Given the description of an element on the screen output the (x, y) to click on. 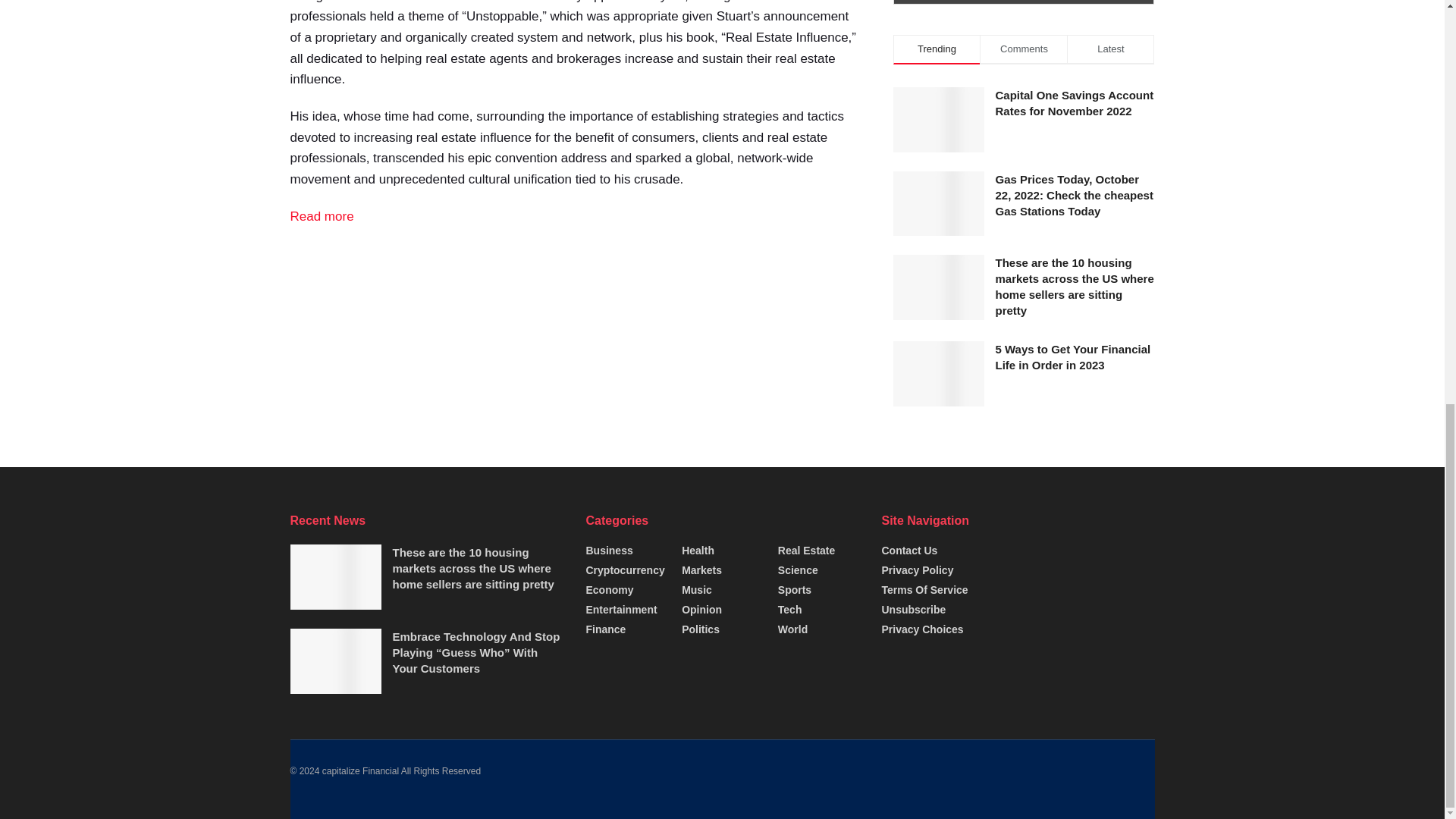
Read more (321, 216)
Capital One Savings Account Rates for November 2022 (1073, 102)
Subscribe (1023, 2)
